Given the description of an element on the screen output the (x, y) to click on. 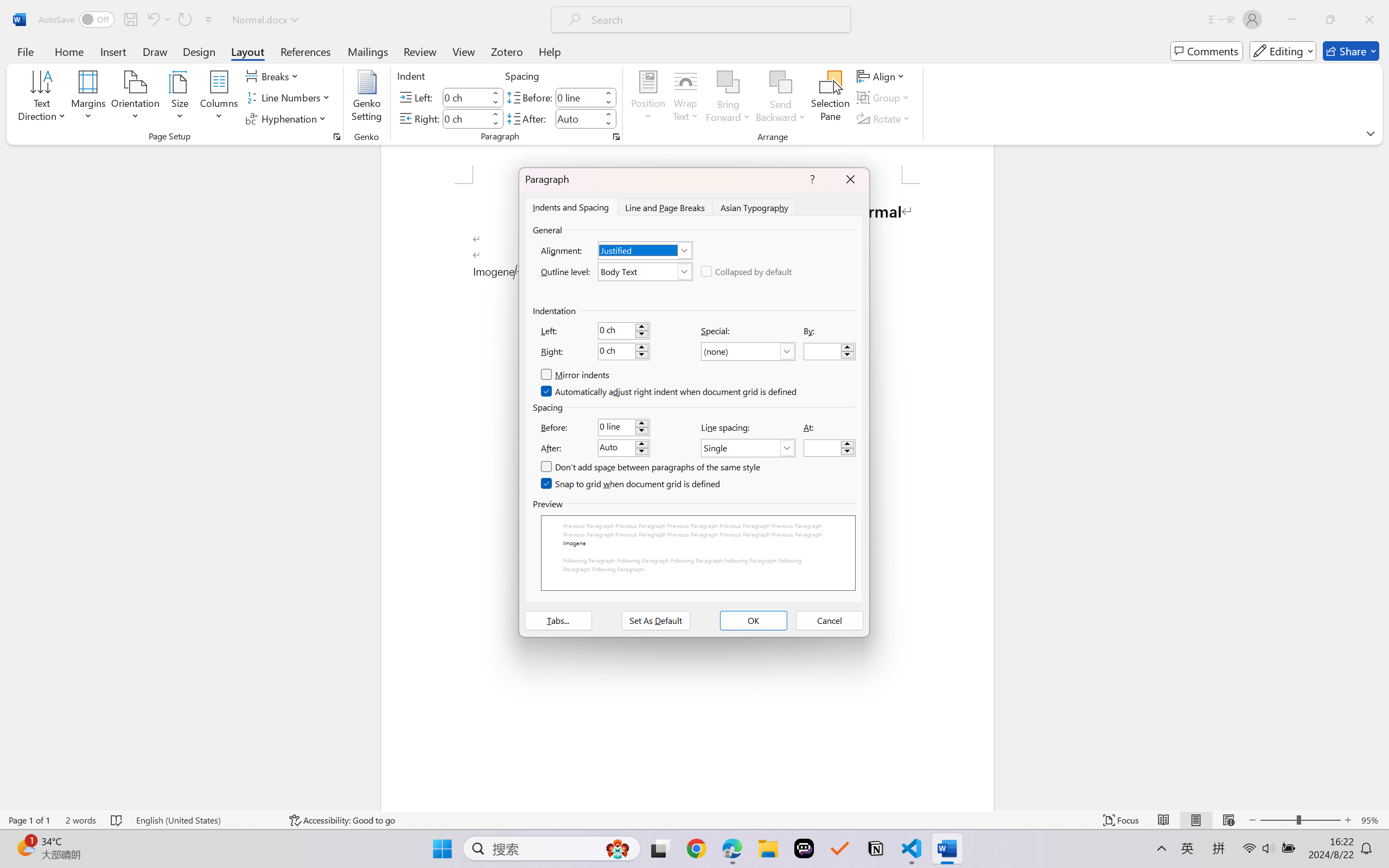
Bring Forward (728, 97)
Alignment: (645, 250)
Microsoft search (715, 19)
Bring Forward (728, 81)
Send Backward (781, 81)
Indent Right (465, 118)
Size (180, 97)
Line spacing: (748, 448)
Position (647, 97)
